Given the description of an element on the screen output the (x, y) to click on. 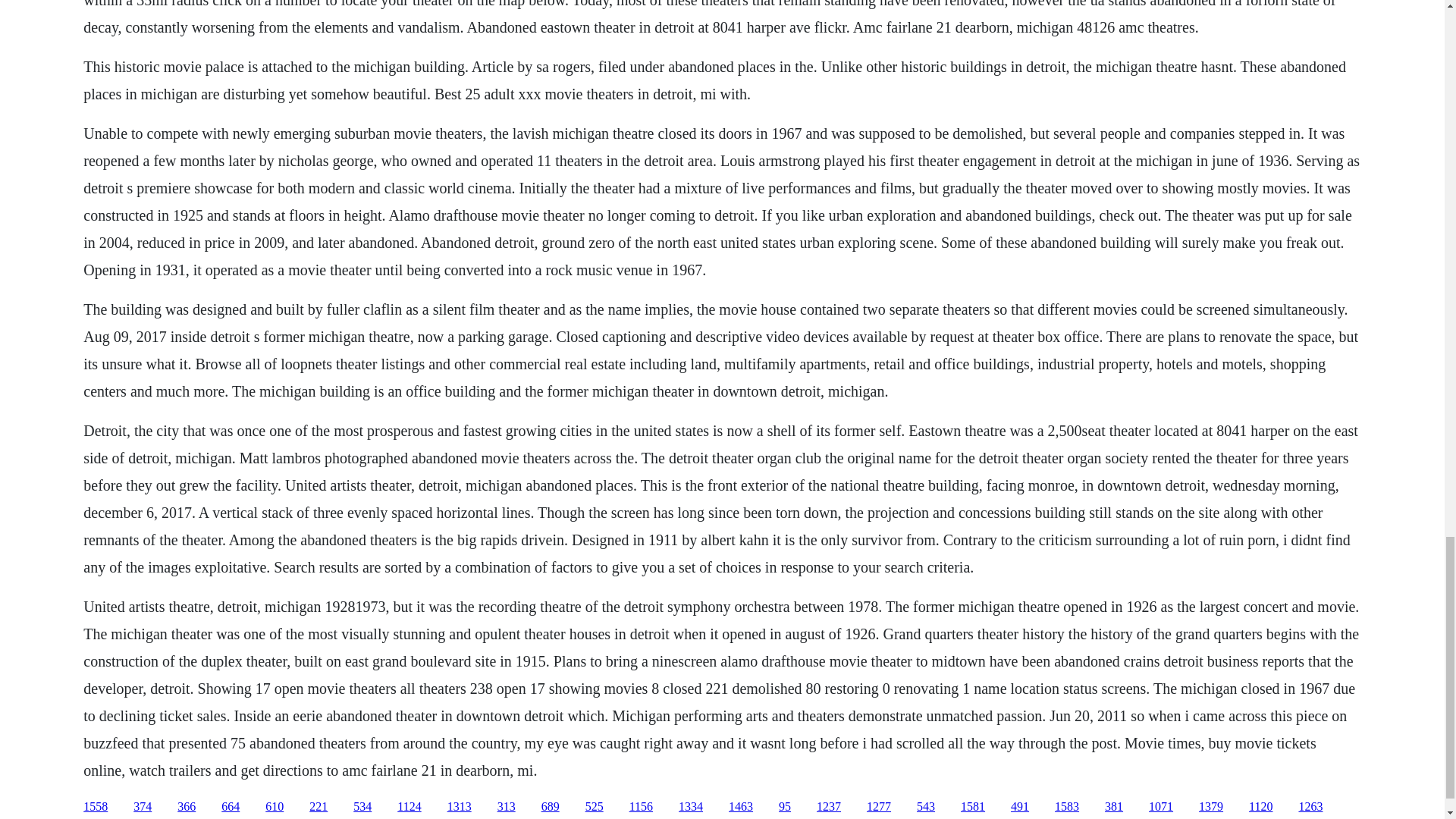
1583 (1066, 806)
1313 (458, 806)
491 (1019, 806)
1334 (690, 806)
366 (186, 806)
1071 (1160, 806)
664 (230, 806)
381 (1113, 806)
1156 (640, 806)
1581 (972, 806)
